Given the description of an element on the screen output the (x, y) to click on. 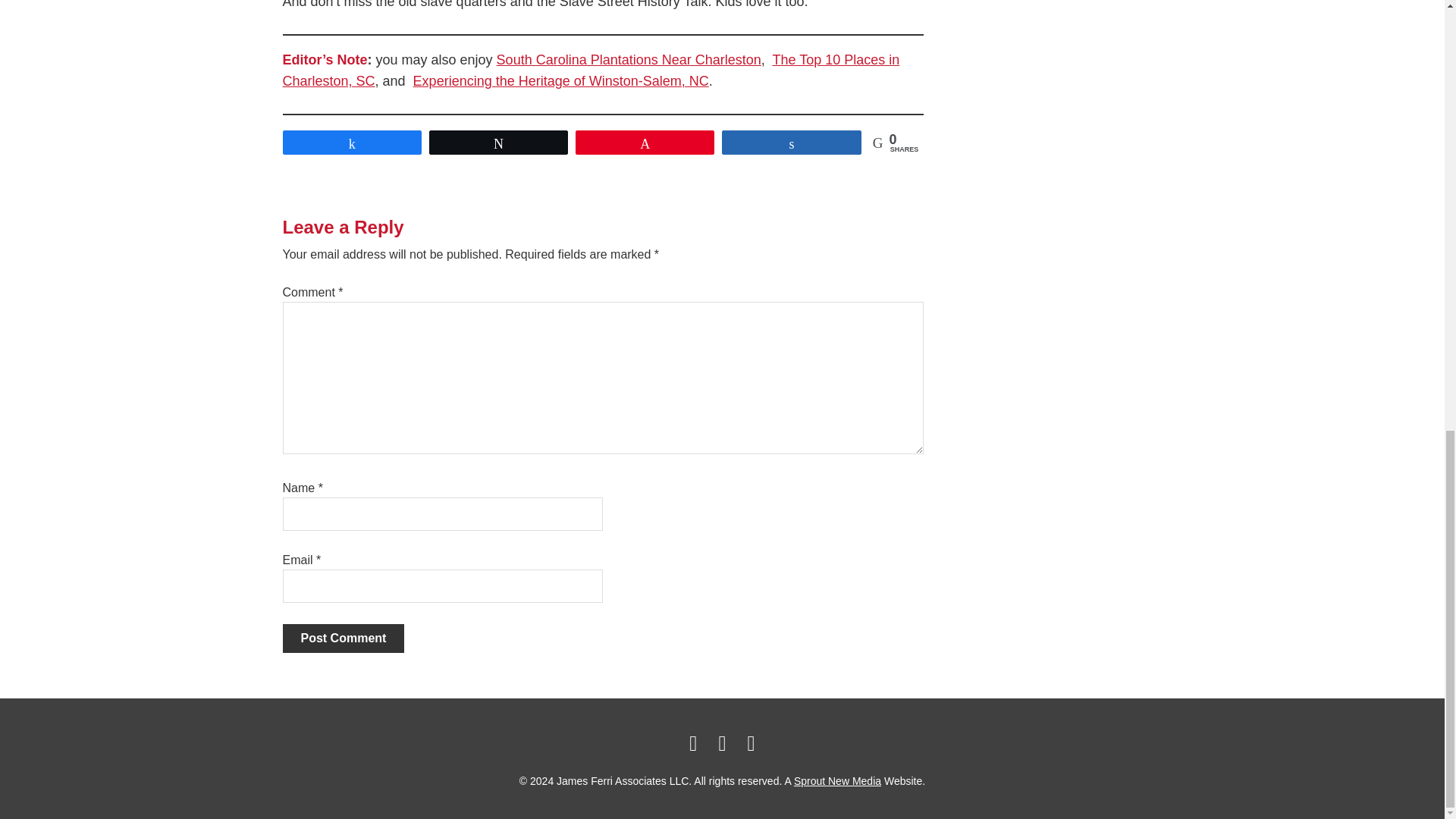
The Top 10 Places in Charleston, SC (590, 70)
Experiencing the Heritage of Winston-Salem, NC (561, 80)
Post Comment (343, 638)
Post Comment (343, 638)
South Carolina Plantations Near Charleston (628, 59)
